Given the description of an element on the screen output the (x, y) to click on. 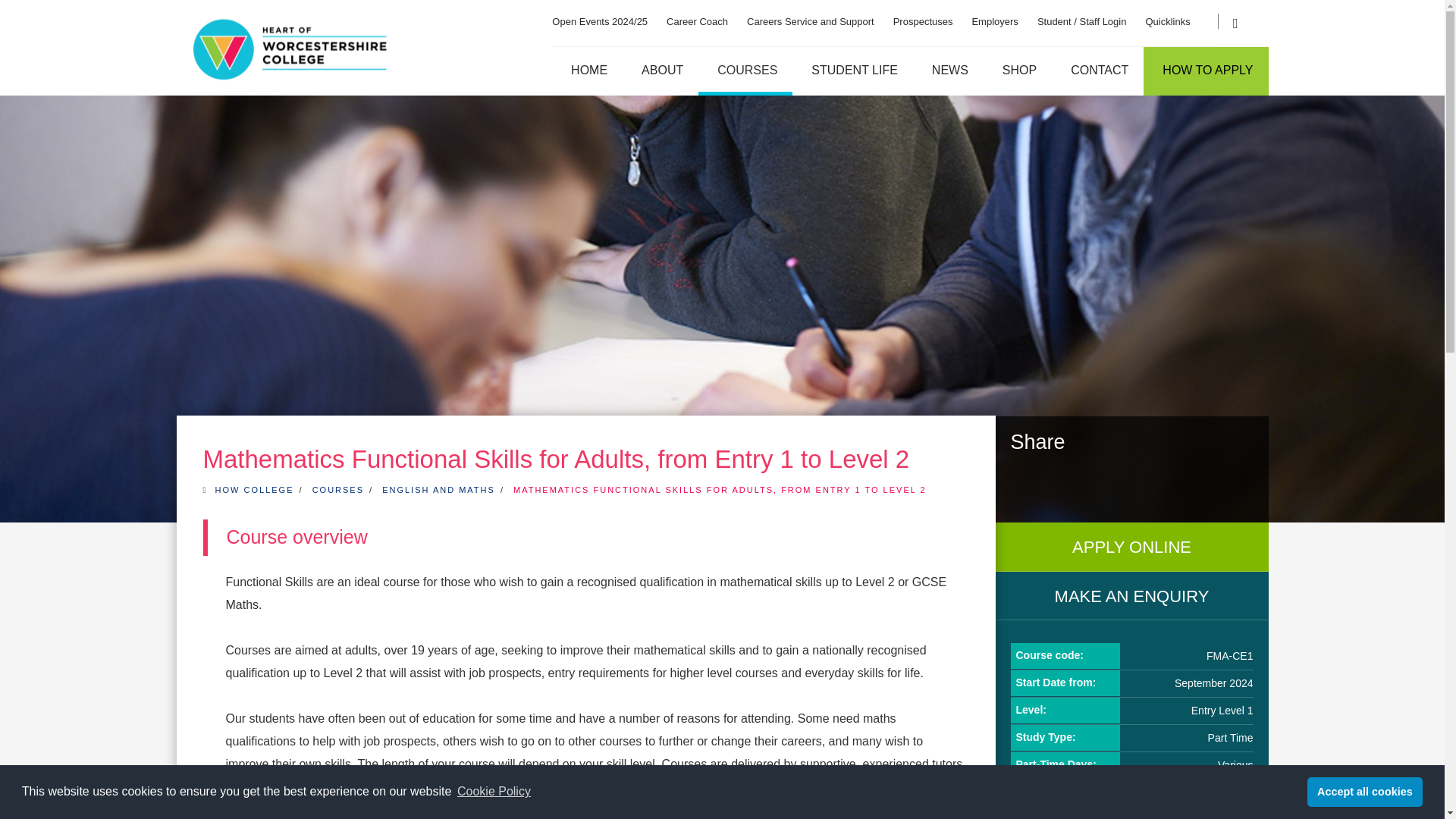
Employers (994, 14)
Careers Service and Support (810, 14)
Quicklinks (1166, 14)
Accept all cookies (1365, 791)
HOME (587, 70)
Cookie Policy (493, 791)
Home (587, 70)
Career Coach (697, 14)
Careers Service and Support (810, 14)
Employers (994, 14)
